Given the description of an element on the screen output the (x, y) to click on. 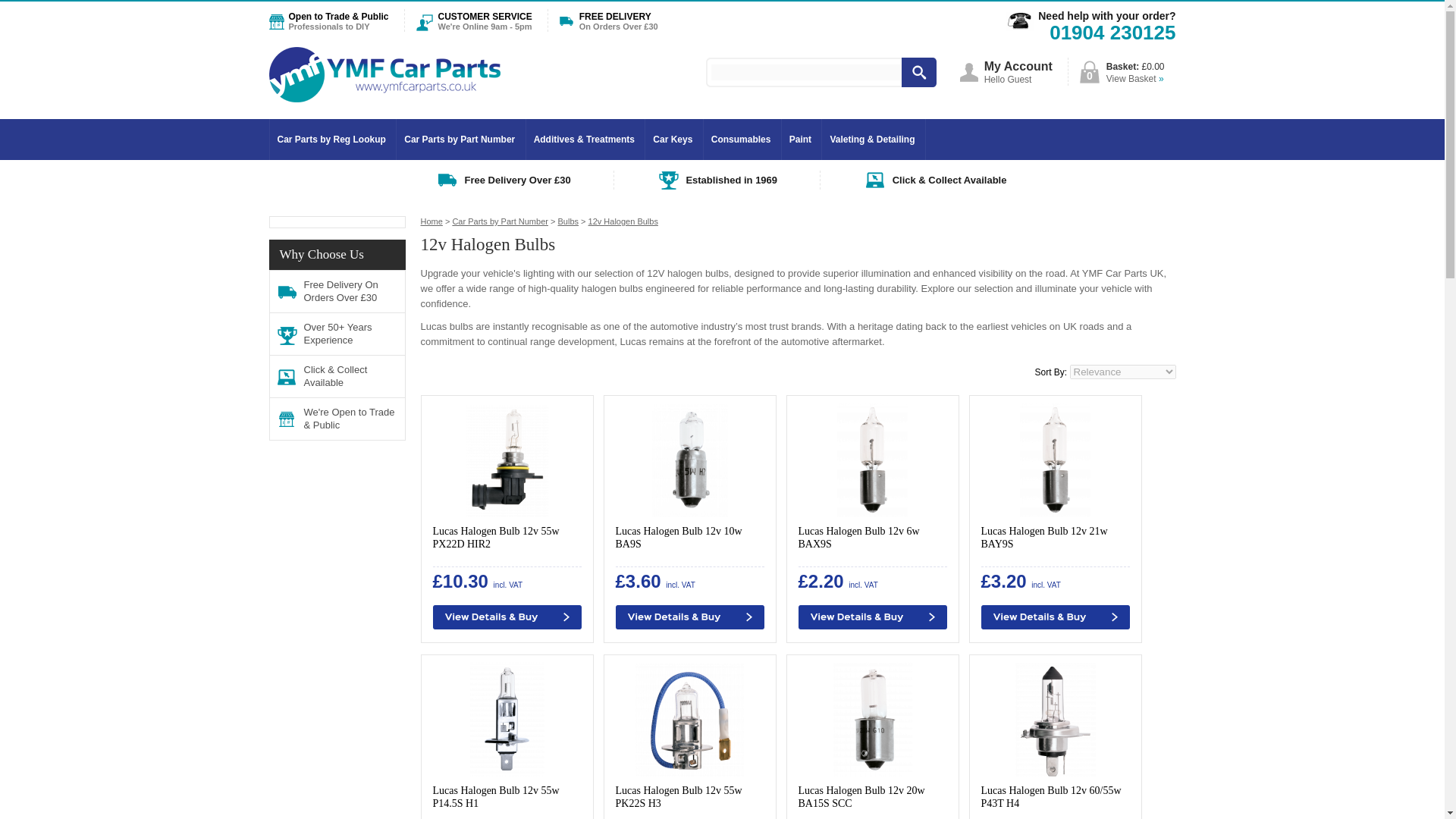
Car Parts by Part Number (459, 139)
Need help with your order? (1106, 15)
My Account (1018, 65)
Car Parts by Reg Lookup (331, 139)
01904 230125 (1111, 34)
